Given the description of an element on the screen output the (x, y) to click on. 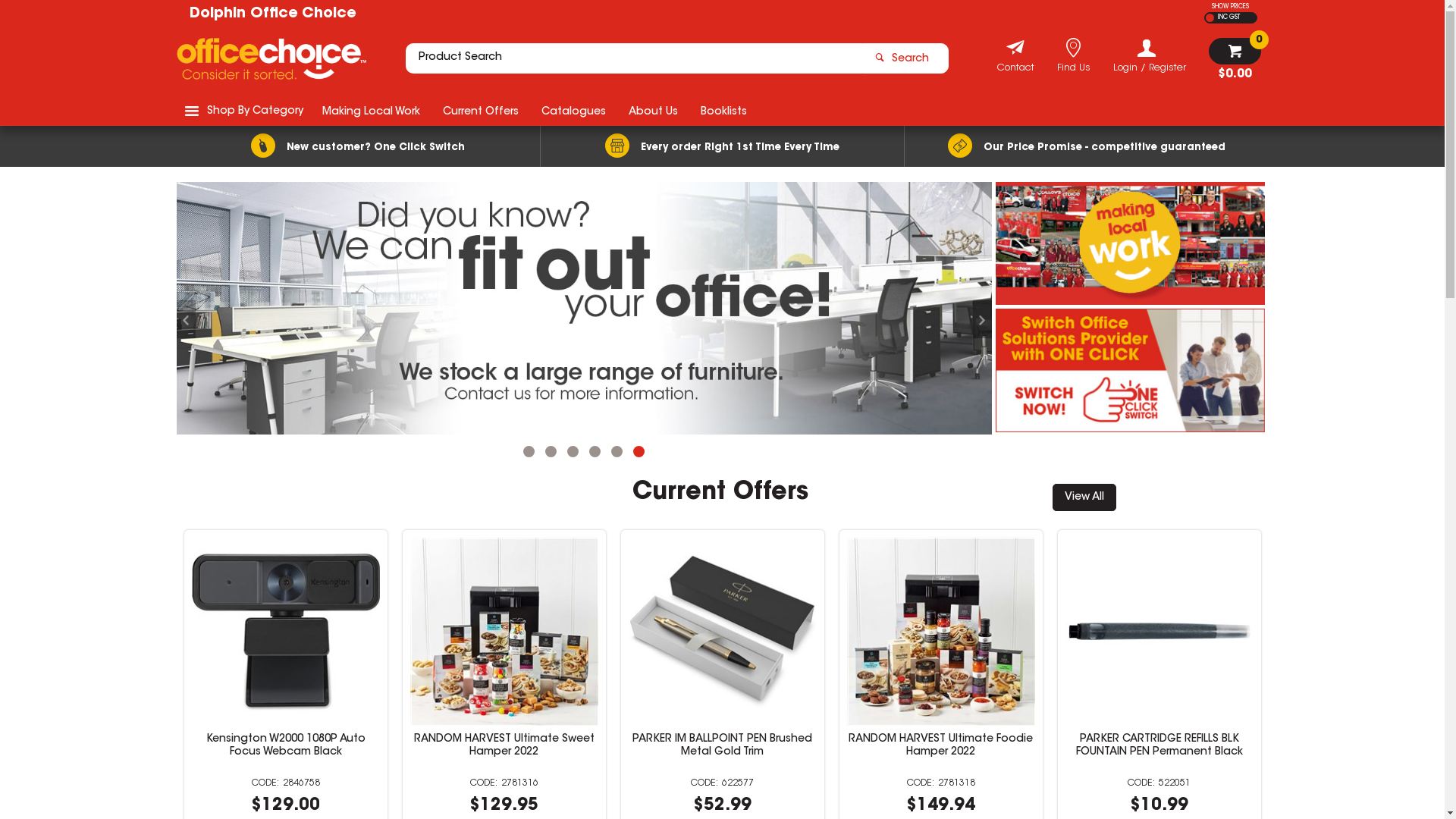
Kensington W2000 1080P Auto Focus Webcam Black Element type: text (721, 745)
Australian BBQ Collection Hamper 2022 Element type: text (285, 745)
View All Element type: text (1084, 497)
Contact Element type: text (1014, 69)
Current Offers Element type: text (479, 110)
EX GST Element type: text (1209, 17)
Making Local Work Element type: text (370, 110)
$0.00
0 Element type: text (1234, 59)
About Us Element type: text (653, 110)
Every order Right 1st Time Every Time Element type: text (721, 145)
Search Element type: text (904, 58)
New customer? One Click Switch Element type: text (357, 145)
RANDOM HARVEST Ultimate Sweet Hamper 2022 Element type: text (940, 745)
Find Us Element type: text (1073, 69)
Login / Register Element type: text (1149, 55)
Our Price Promise - competitive guaranteed Element type: text (1085, 145)
Booklists Element type: text (722, 110)
INC GST Element type: text (1226, 17)
Catalogues Element type: text (572, 110)
RANDOM HARVEST Just Add Cheese Hamper 2022 Element type: text (503, 745)
PARKER IM BALLPOINT PEN Brushed Metal Gold Trim Element type: text (1158, 745)
